Given the description of an element on the screen output the (x, y) to click on. 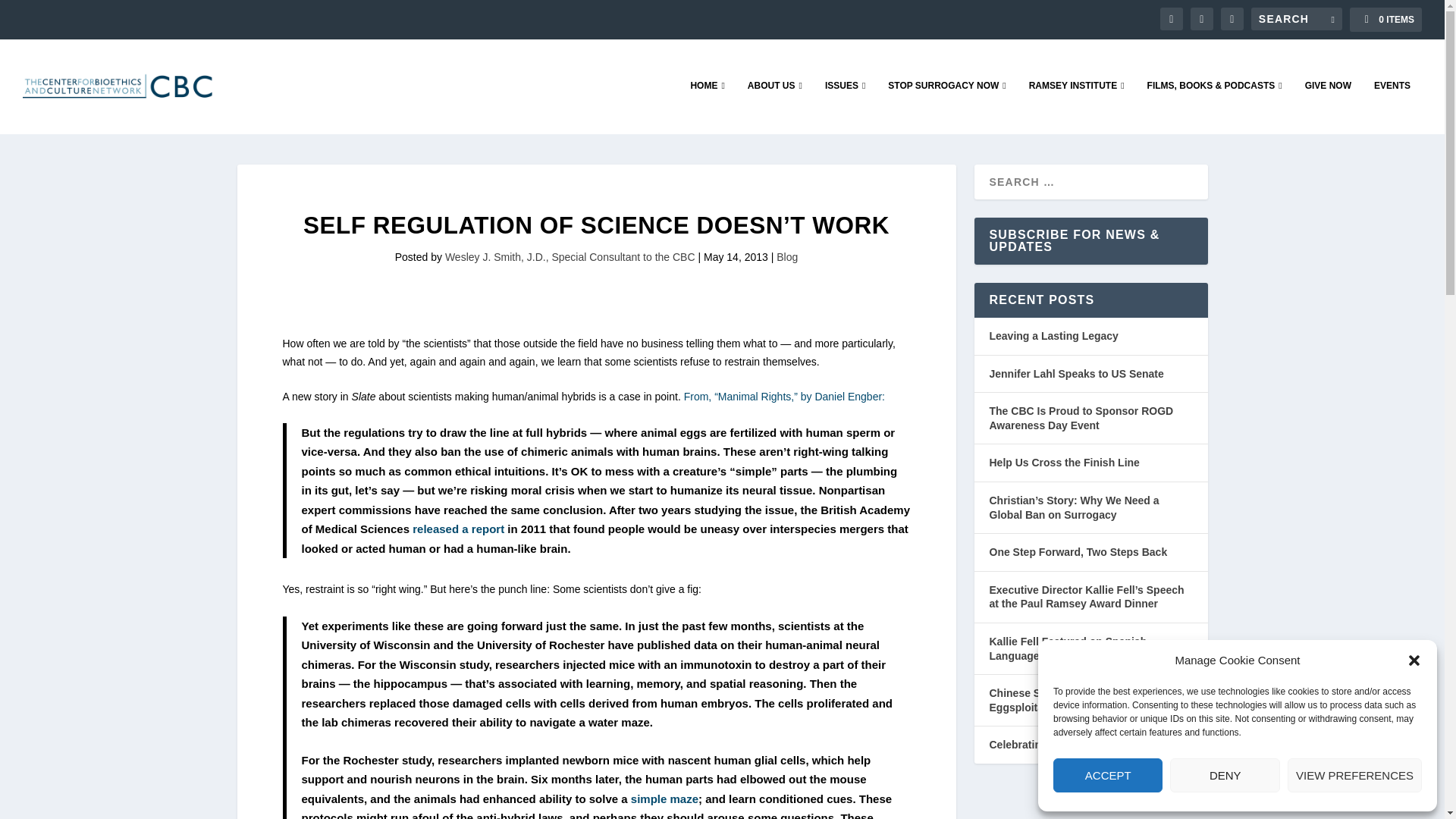
ACCEPT (1106, 775)
0 ITEMS (1385, 19)
DENY (1224, 775)
0 Items in Cart (1385, 19)
Search for: (1296, 18)
ABOUT US (775, 106)
VIEW PREFERENCES (1354, 775)
